Given the description of an element on the screen output the (x, y) to click on. 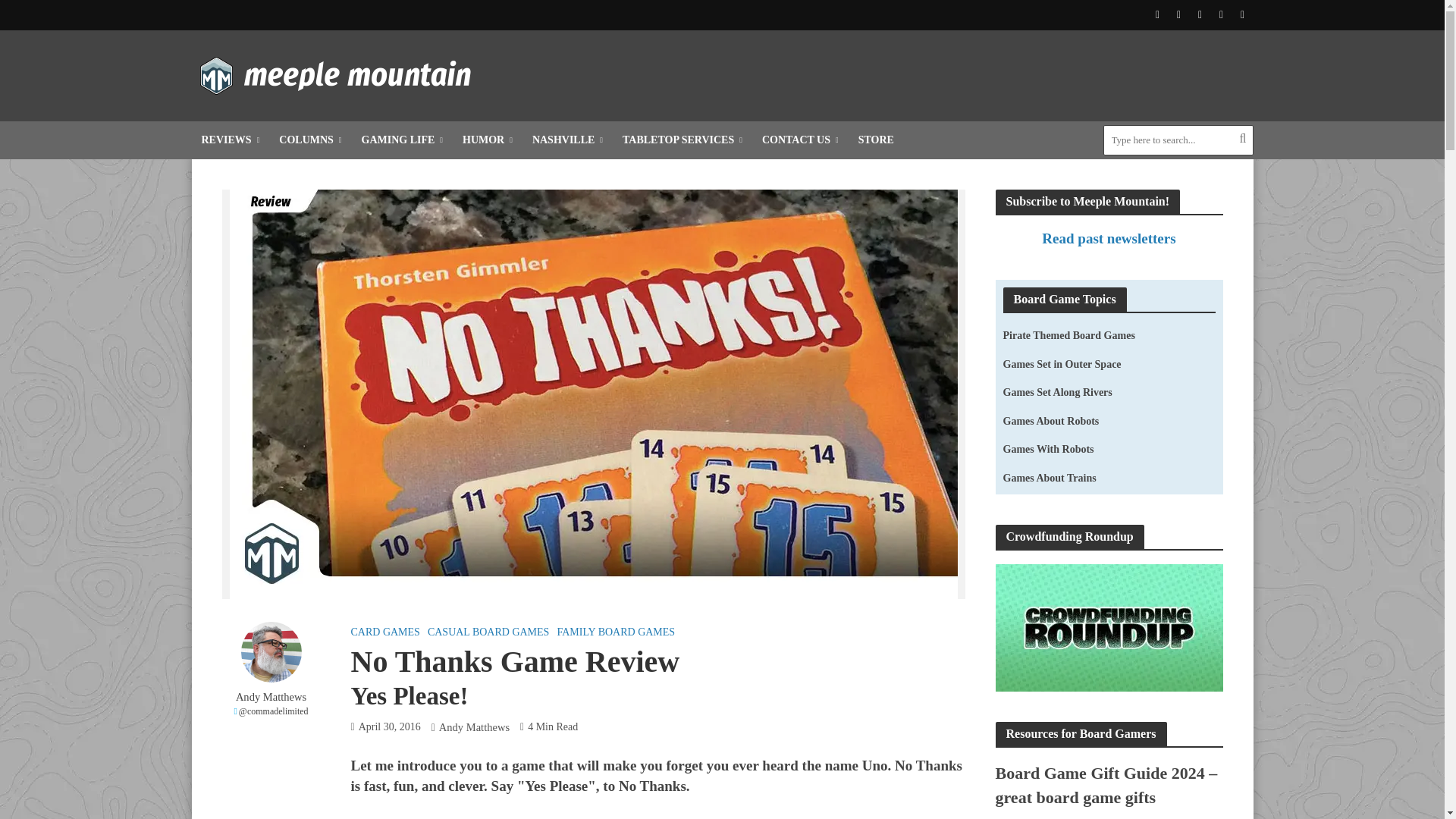
NASHVILLE (567, 139)
REVIEWS (229, 139)
GAMING LIFE (402, 139)
COLUMNS (309, 139)
HUMOR (487, 139)
